Given the description of an element on the screen output the (x, y) to click on. 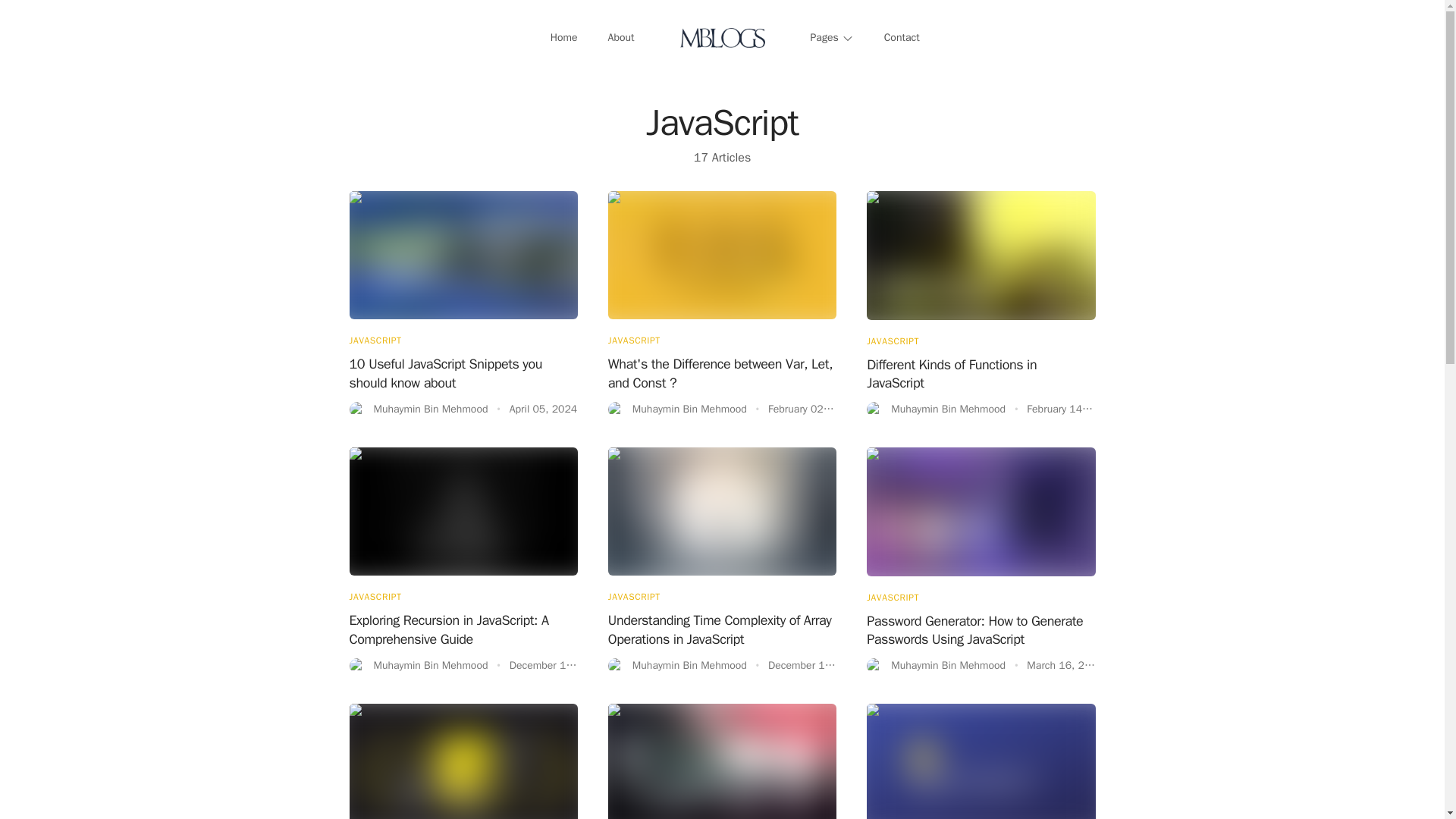
Illustration (980, 761)
JAVASCRIPT (634, 333)
Muhaymin Bin Mehmood (936, 665)
Muhaymin Bin Mehmood (874, 665)
Muhaymin Bin Mehmood (615, 409)
Home (563, 37)
Muhaymin Bin Mehmood (418, 665)
Muhaymin Bin Mehmood (677, 665)
